Given the description of an element on the screen output the (x, y) to click on. 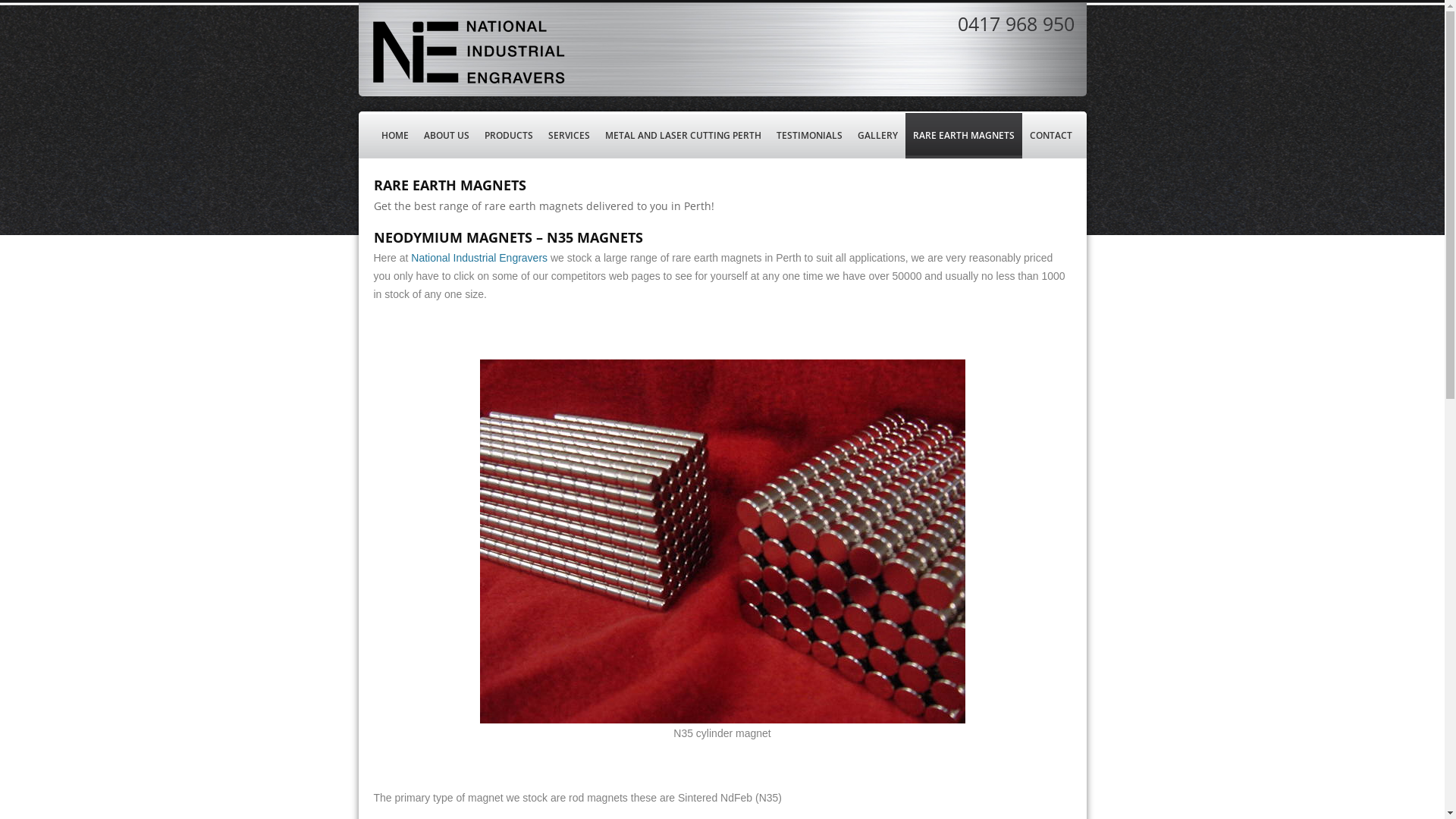
ABOUT US Element type: text (445, 135)
METAL AND LASER CUTTING PERTH Element type: text (682, 135)
RARE EARTH MAGNETS Element type: text (963, 135)
CONTACT Element type: text (1050, 135)
National Industrial Engravers Element type: text (479, 257)
0417 968 950 Element type: text (1015, 23)
TESTIMONIALS Element type: text (809, 135)
GALLERY Element type: text (876, 135)
SERVICES Element type: text (567, 135)
NATIONAL INDUSTRIAL ENGRAVERS Element type: text (478, 49)
N35 rare earth magnet Element type: hover (721, 541)
PRODUCTS Element type: text (507, 135)
HOME Element type: text (394, 135)
